Given the description of an element on the screen output the (x, y) to click on. 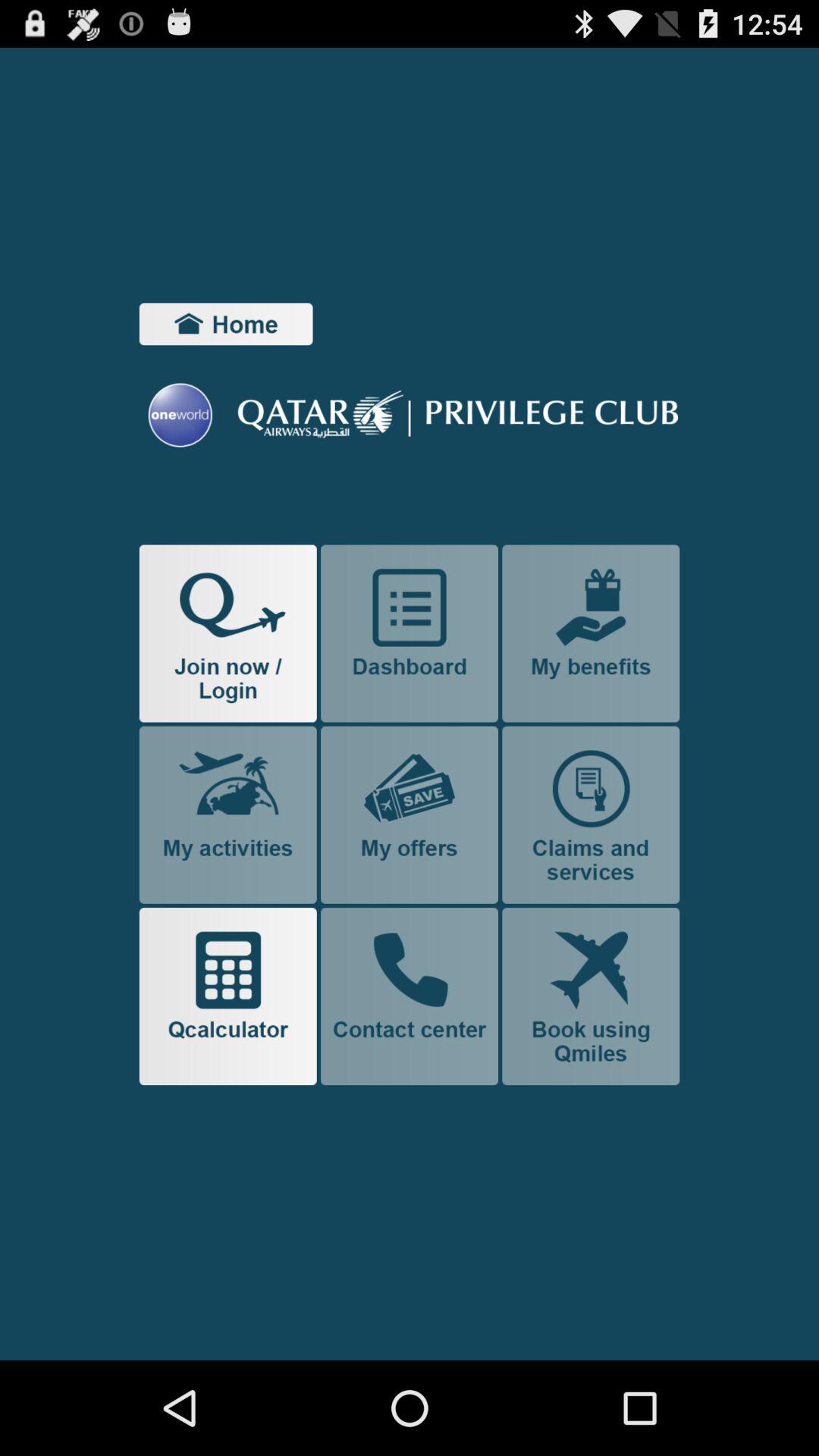
goes to calculator (227, 996)
